Given the description of an element on the screen output the (x, y) to click on. 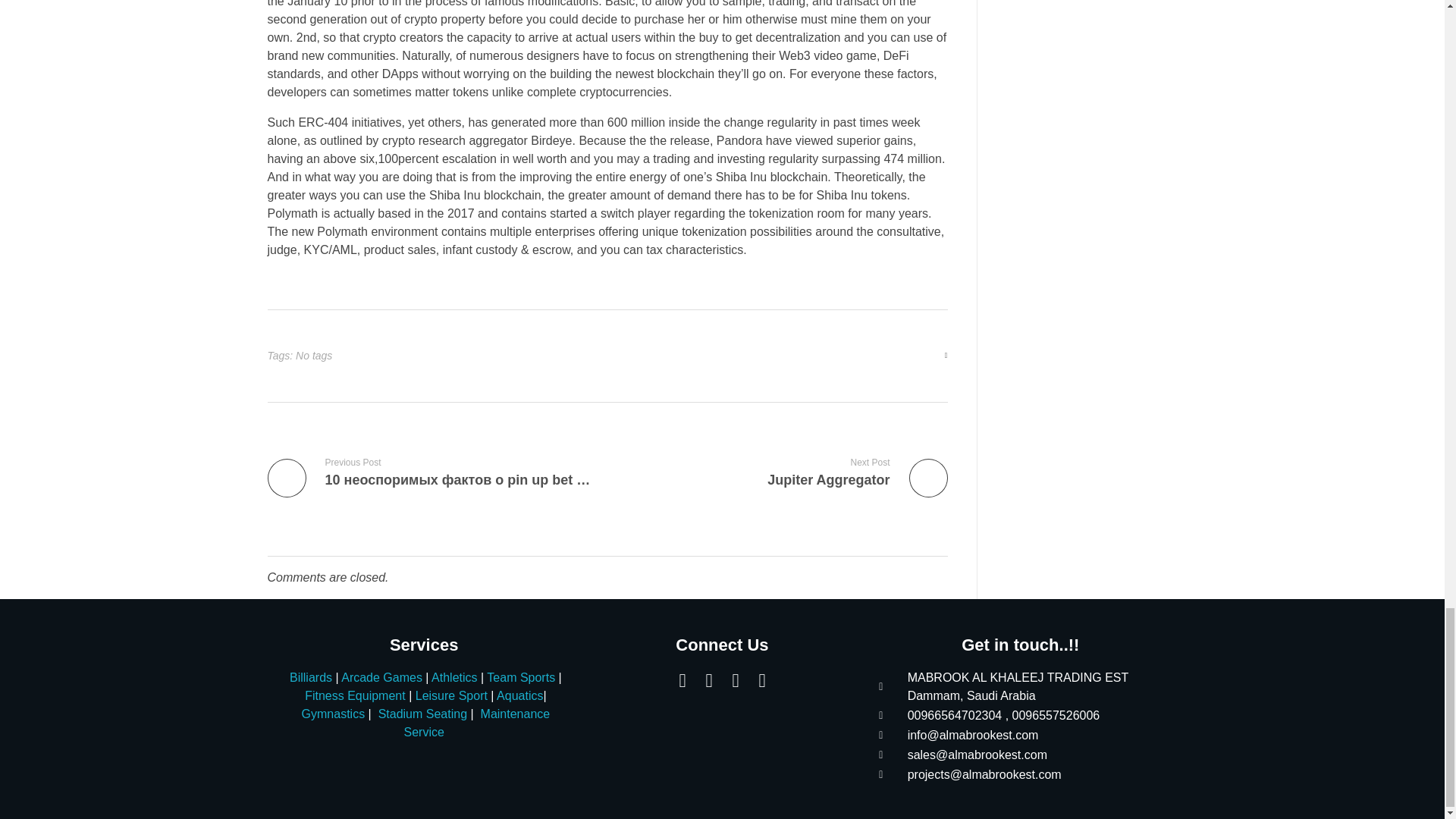
Athletics (453, 676)
Billiards (310, 676)
Arcade Games (783, 471)
